Given the description of an element on the screen output the (x, y) to click on. 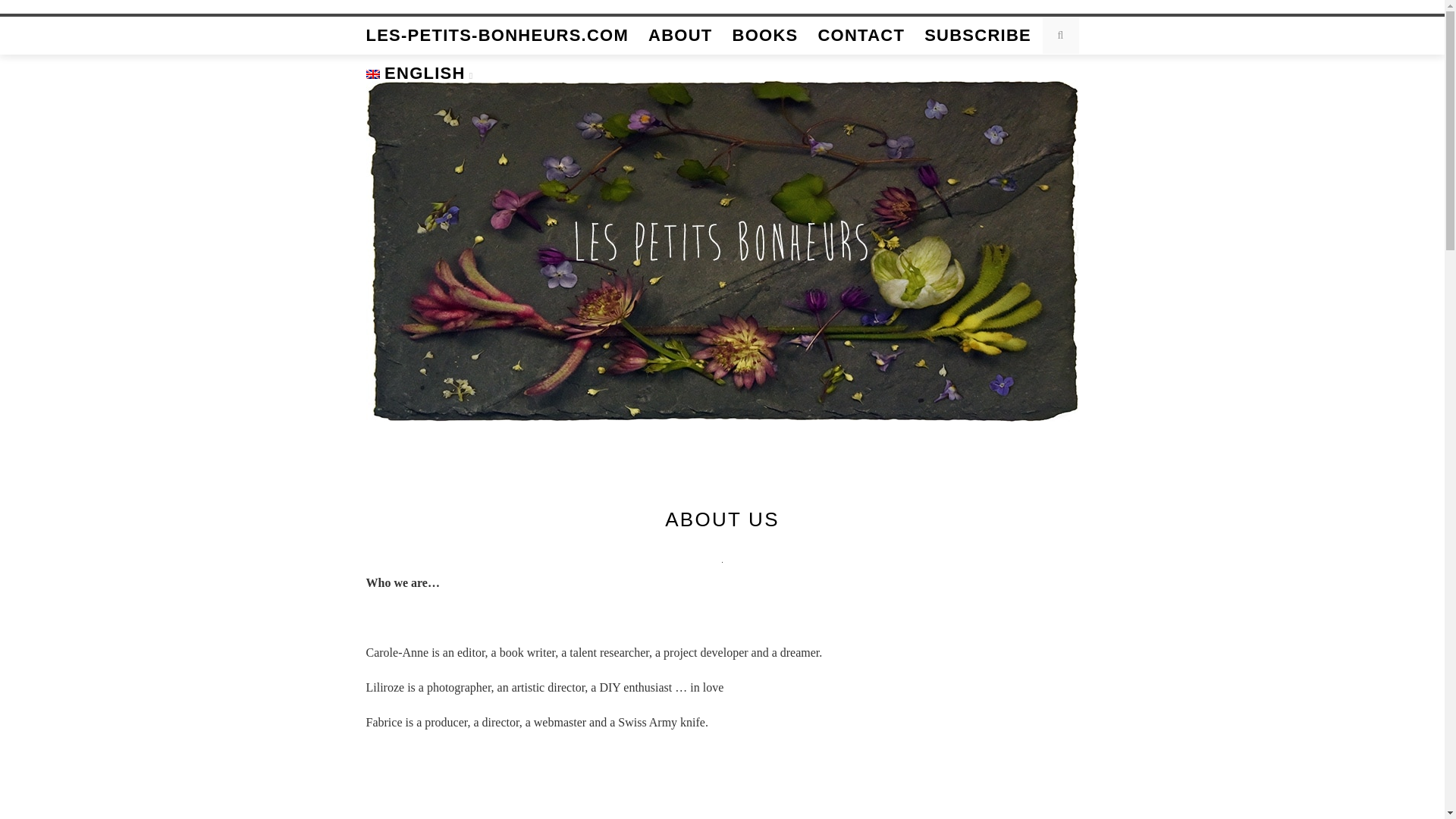
ENGLISH (419, 74)
LES-PETITS-BONHEURS.COM (496, 35)
CONTACT (860, 35)
SUBSCRIBE (977, 35)
BOOKS (764, 35)
ABOUT (679, 35)
English (419, 74)
